Given the description of an element on the screen output the (x, y) to click on. 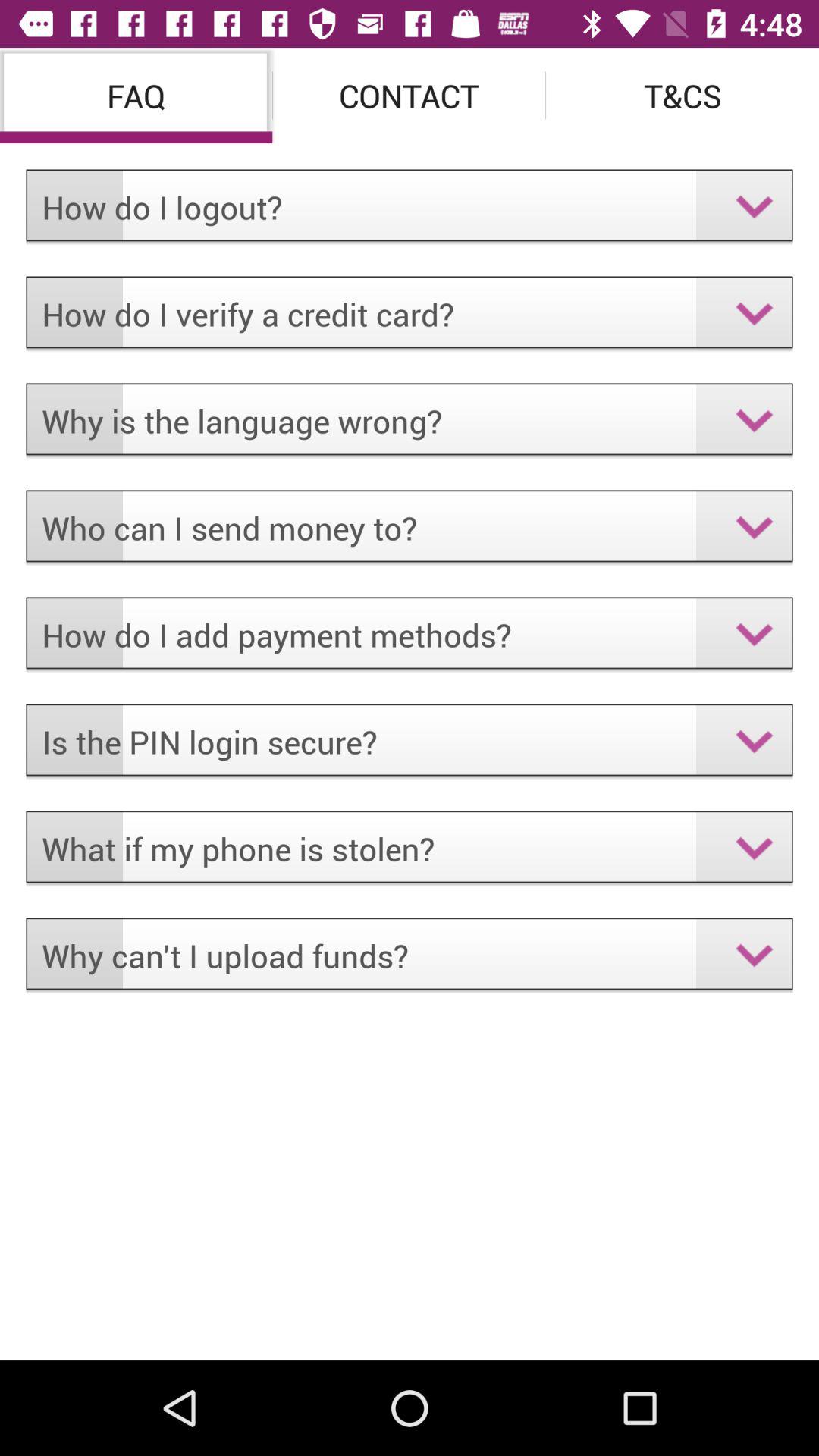
jump until t&cs icon (682, 95)
